Given the description of an element on the screen output the (x, y) to click on. 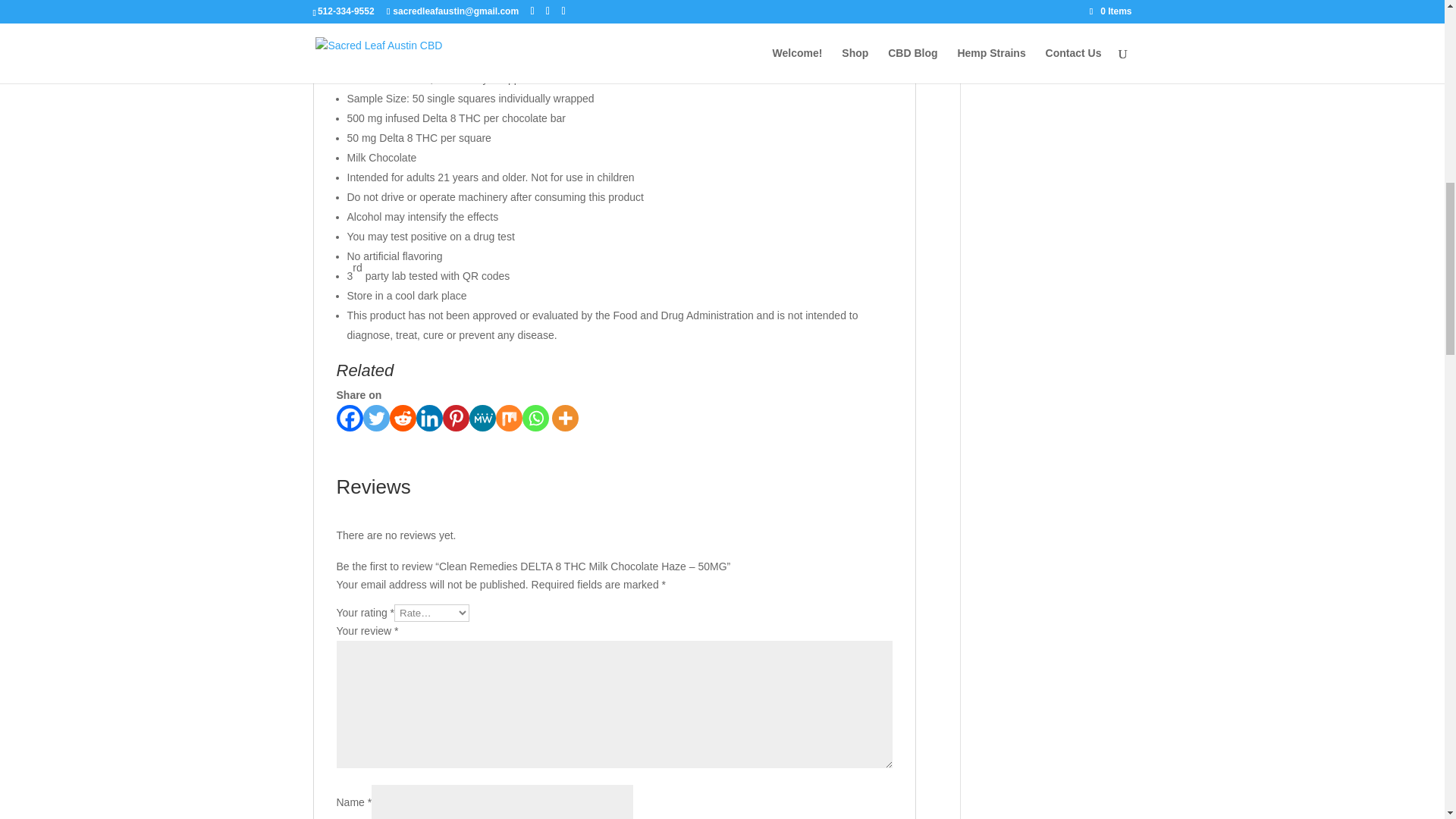
Mix (509, 417)
MeWe (481, 417)
Linkedin (428, 417)
Facebook (349, 417)
Reddit (403, 417)
Twitter (375, 417)
Pinterest (455, 417)
Whatsapp (534, 417)
